Given the description of an element on the screen output the (x, y) to click on. 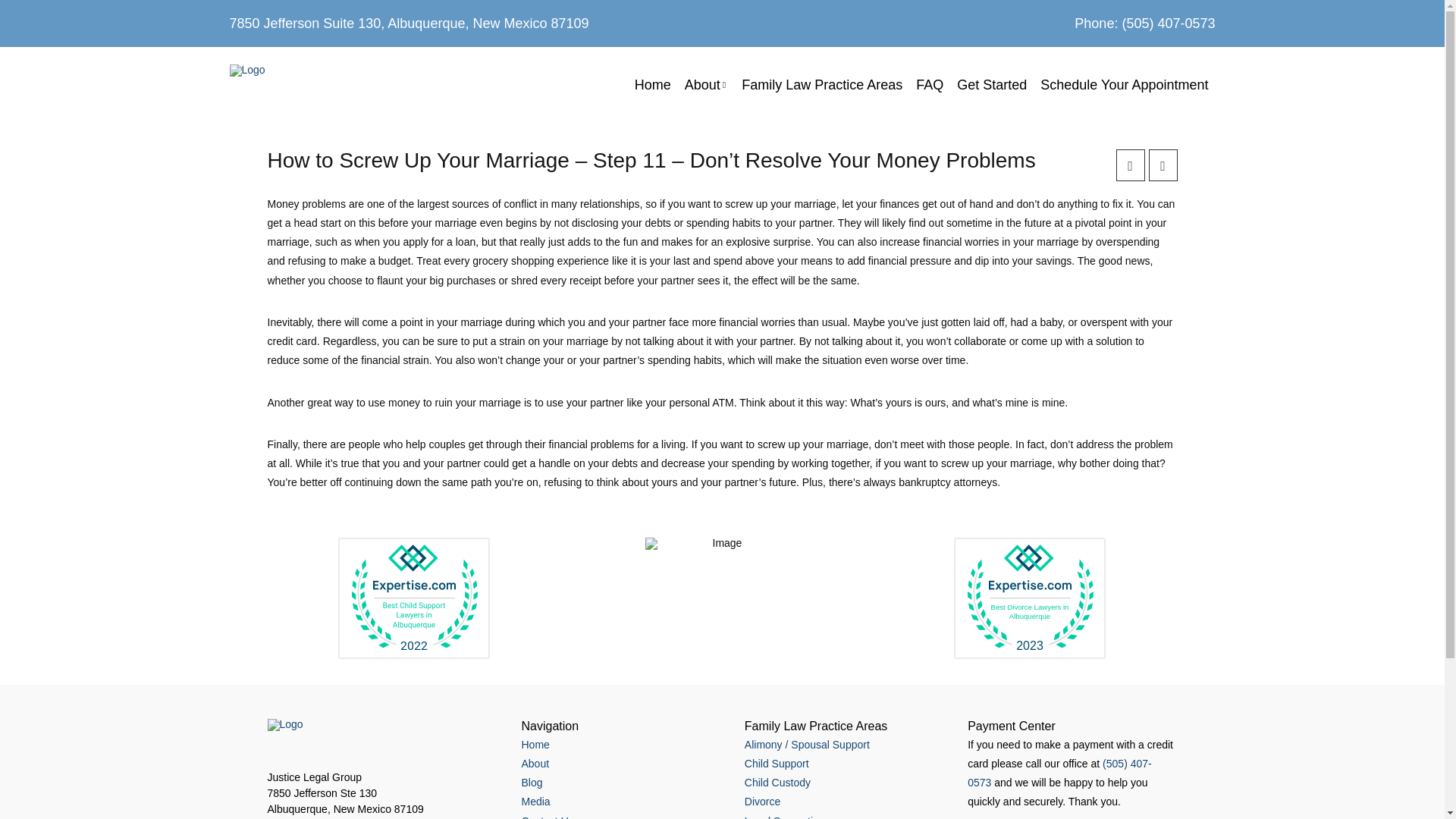
Child Support Lawyer Albuquerque (776, 763)
Child Custody (777, 782)
About (535, 763)
Get Started (991, 84)
FAQ (929, 84)
Divorce Lawyer Albuquerque (762, 801)
Contact Us (547, 816)
Blog (532, 782)
Albuquerque Alimony Attorney (806, 744)
Media (535, 801)
